Given the description of an element on the screen output the (x, y) to click on. 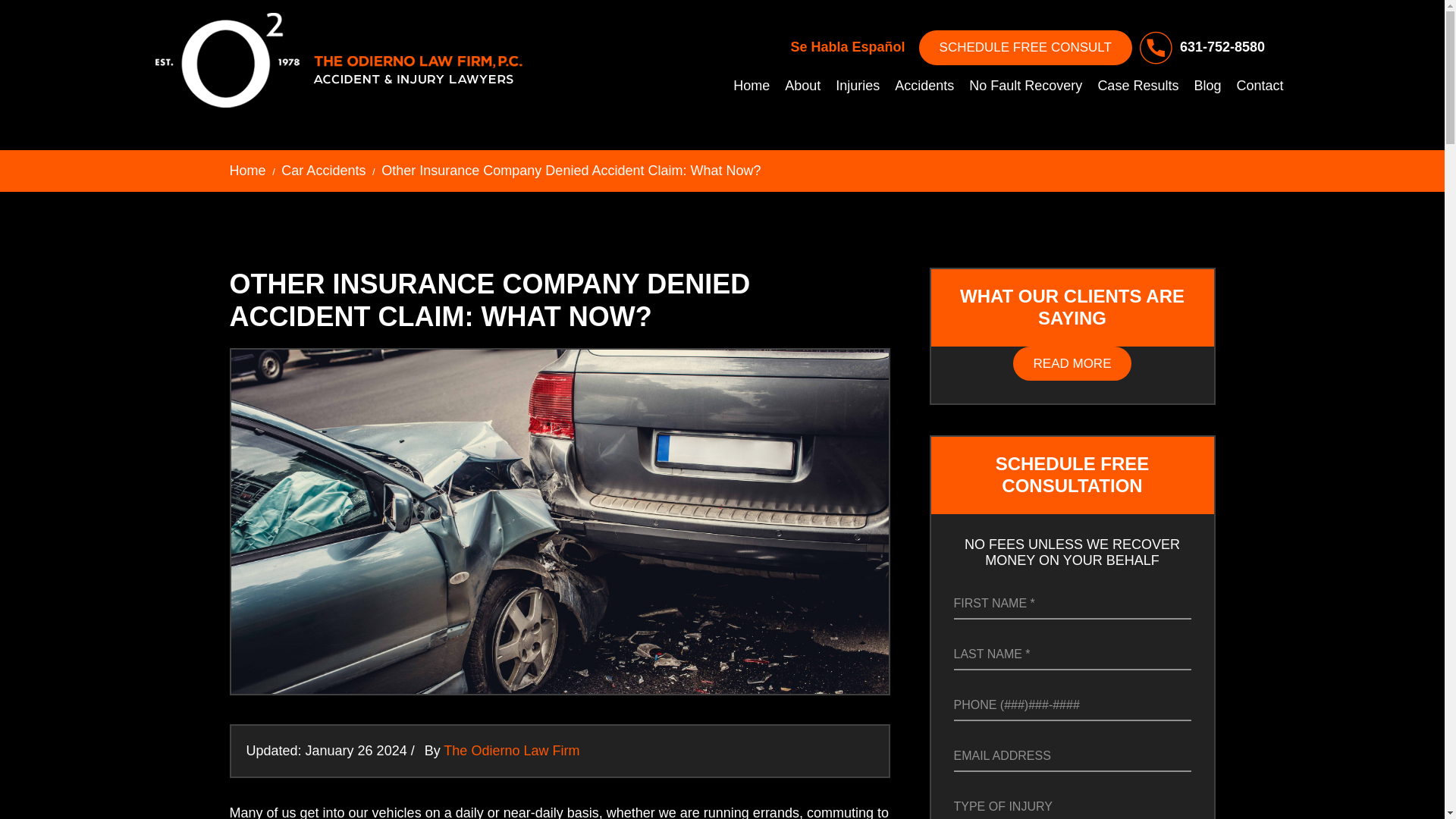
THE ODIERNO LAW FIRM ACCIDENT AND INJURY LAWYERS (338, 59)
SCHEDULE FREE CONSULT (1025, 47)
Home (751, 86)
631-752-8580 (1198, 47)
Injuries (857, 86)
About (802, 86)
